Given the description of an element on the screen output the (x, y) to click on. 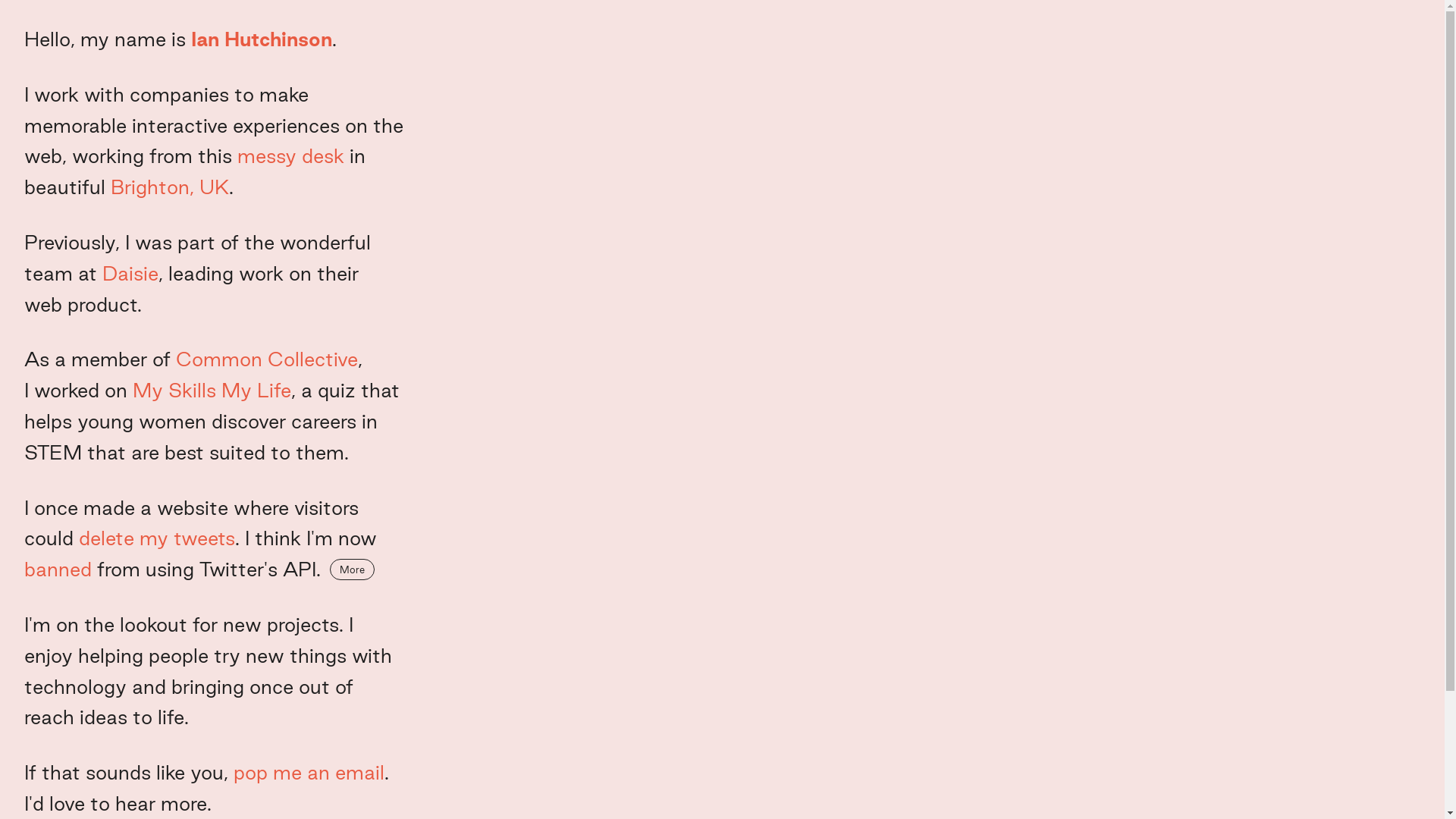
pop me an email Element type: text (308, 772)
banned Element type: text (57, 569)
delete my tweets Element type: text (156, 538)
Ian Hutchinson Element type: text (261, 39)
Common Collective Element type: text (266, 359)
Brighton, UK Element type: text (169, 186)
Daisie Element type: text (130, 273)
More Element type: text (351, 569)
messy desk Element type: text (290, 155)
My Skills My Life Element type: text (211, 390)
